Given the description of an element on the screen output the (x, y) to click on. 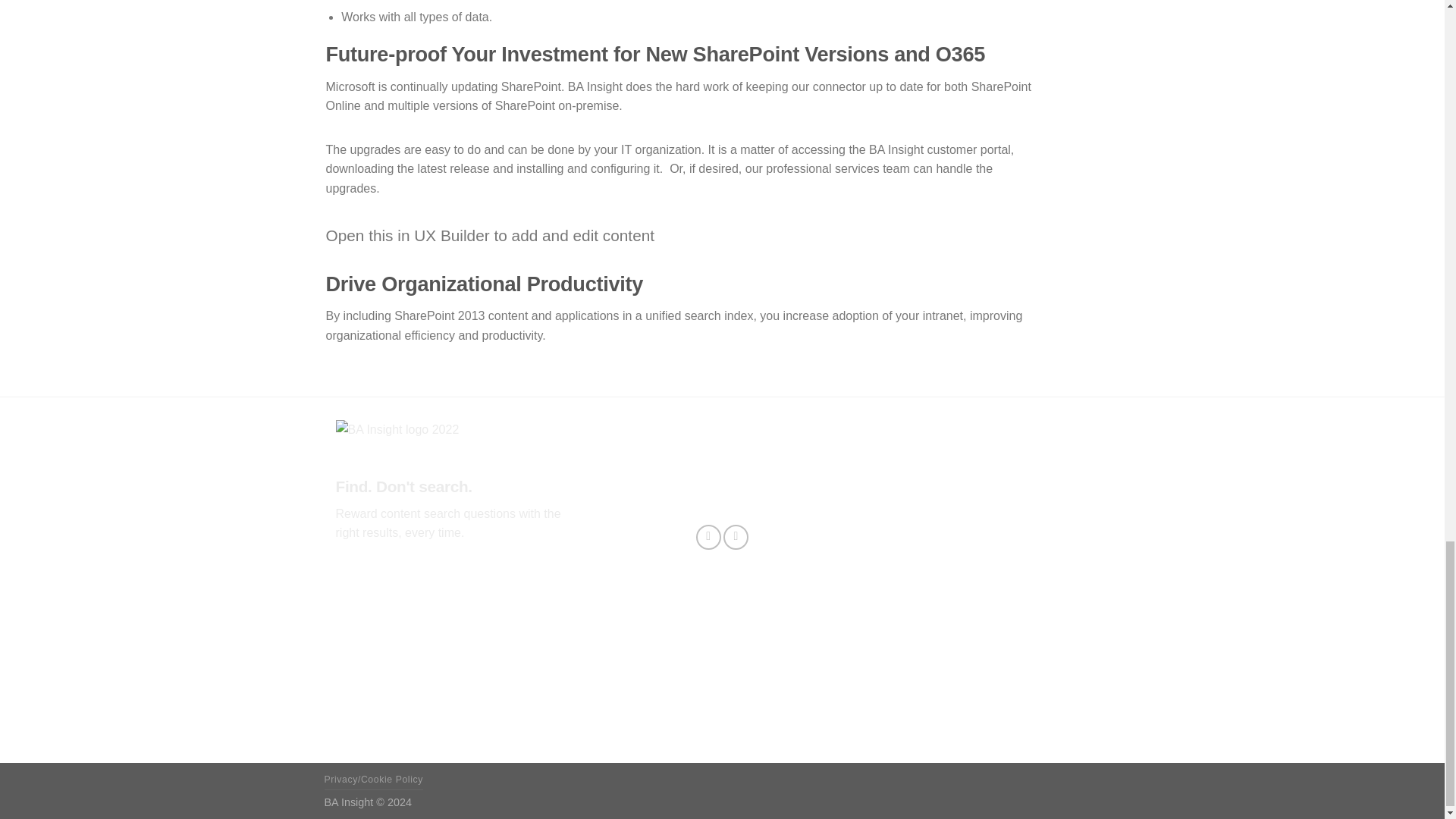
Follow on Twitter (707, 536)
Follow on LinkedIn (735, 536)
